Given the description of an element on the screen output the (x, y) to click on. 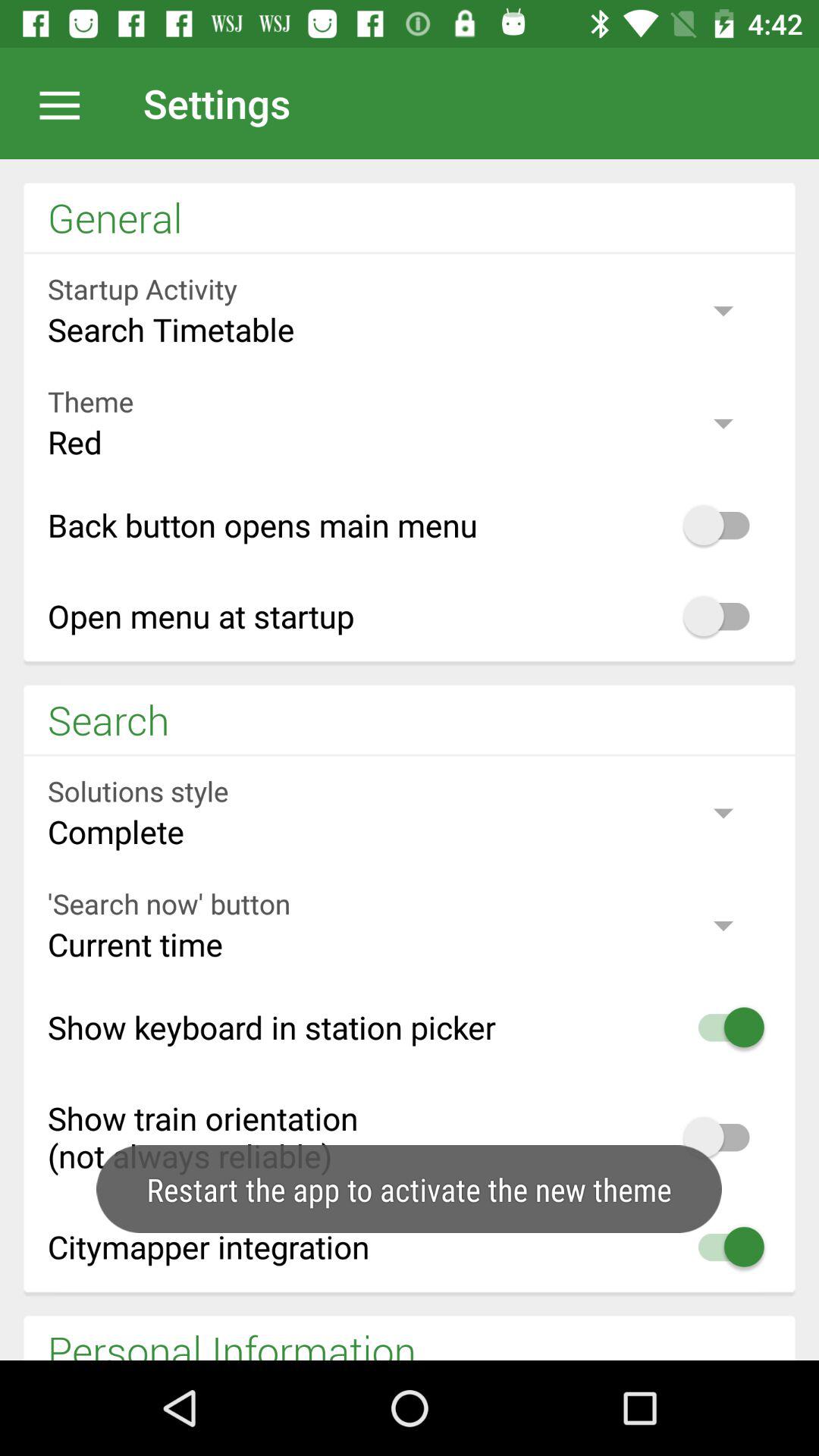
switch on the location (67, 103)
